Given the description of an element on the screen output the (x, y) to click on. 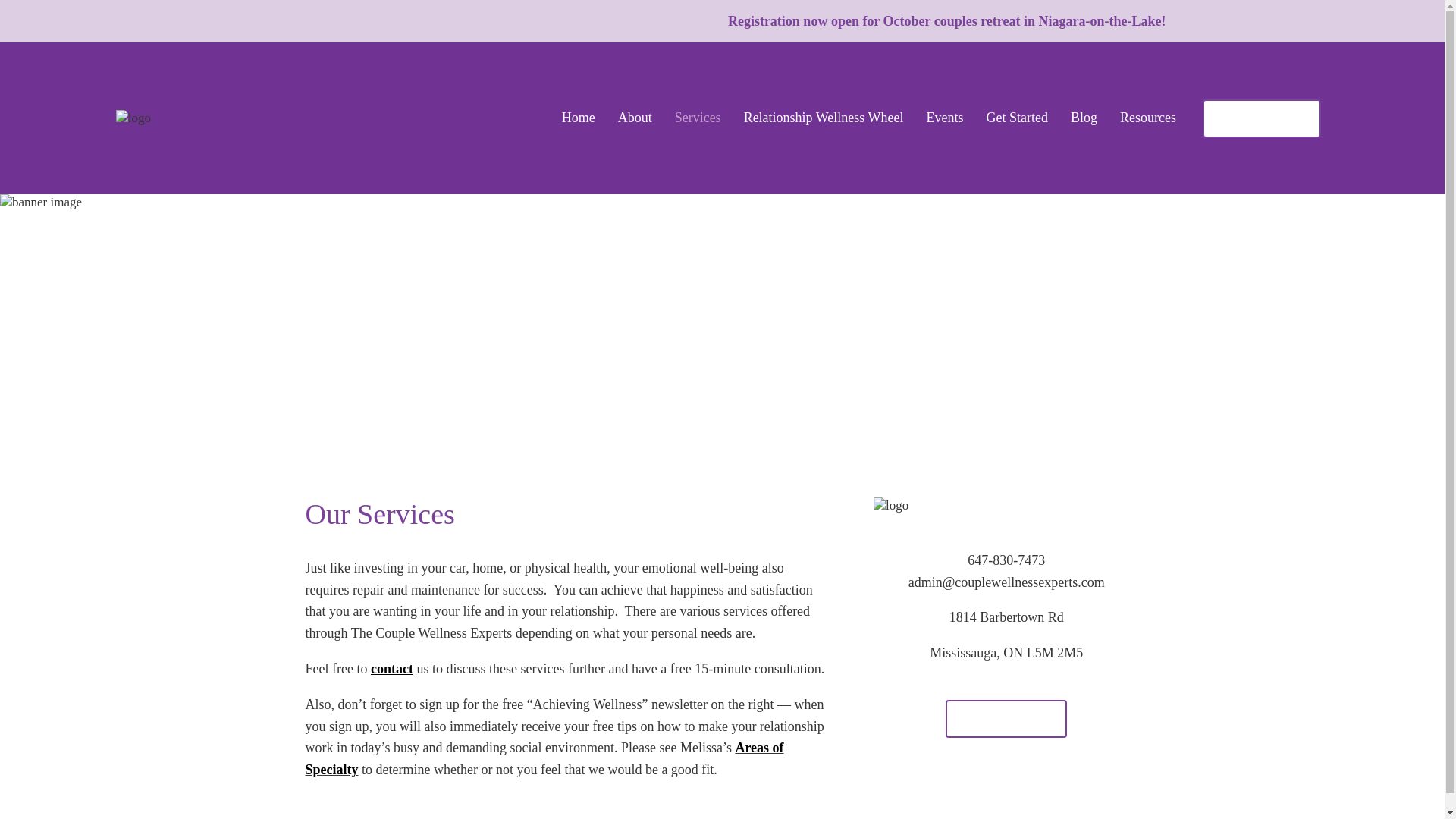
Resources (1147, 117)
Home (578, 117)
Services (697, 117)
Blog (1083, 117)
Book Now (1261, 117)
About (634, 117)
Get Started (1015, 117)
Relationship Wellness Wheel (824, 117)
Events (944, 117)
